Given the description of an element on the screen output the (x, y) to click on. 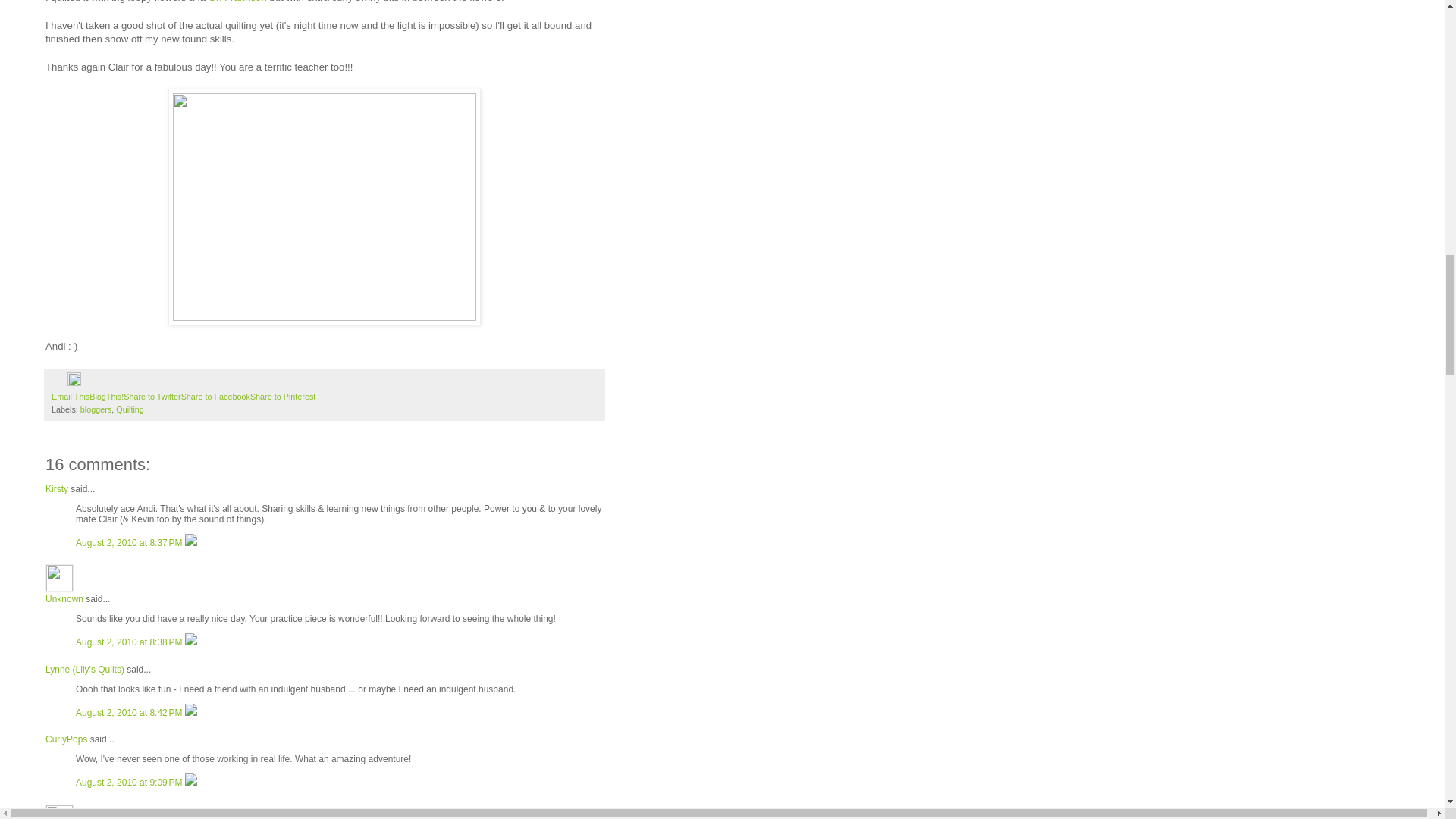
Unknown (59, 578)
BlogThis! (105, 396)
Delete Comment (190, 642)
Unknown (63, 598)
Edit Post (73, 382)
comment permalink (129, 542)
BlogThis! (105, 396)
Delete Comment (190, 712)
comment permalink (129, 642)
Oh Frannson (237, 1)
Share to Facebook (215, 396)
Email This (69, 396)
CurlyPops (66, 738)
